Given the description of an element on the screen output the (x, y) to click on. 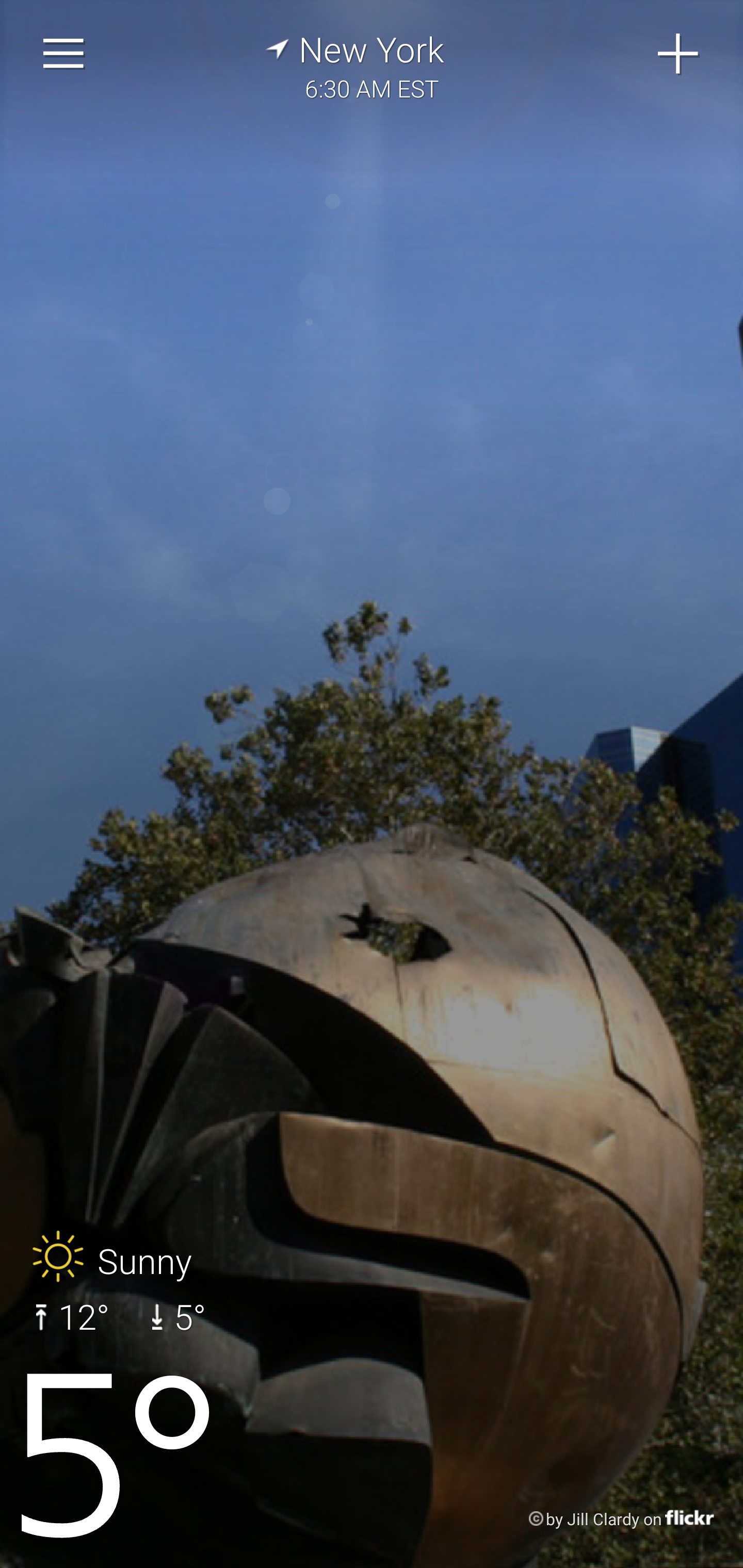
Sidebar (64, 54)
Add City (678, 53)
